Given the description of an element on the screen output the (x, y) to click on. 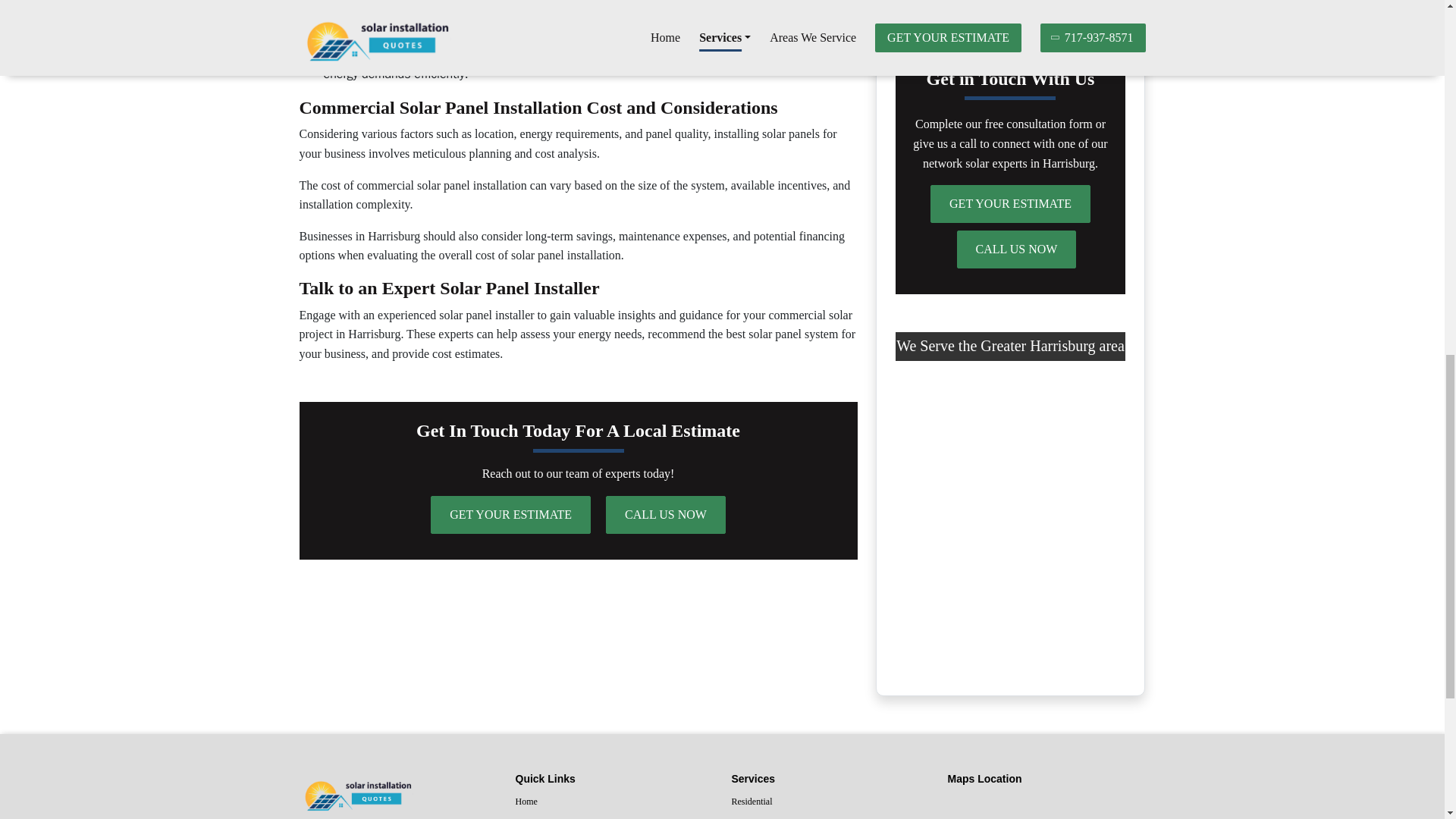
Residential (829, 802)
CALL US NOW (665, 514)
Home (614, 802)
CALL US NOW (1016, 249)
GET YOUR ESTIMATE (1010, 203)
GET YOUR ESTIMATE (510, 514)
